Given the description of an element on the screen output the (x, y) to click on. 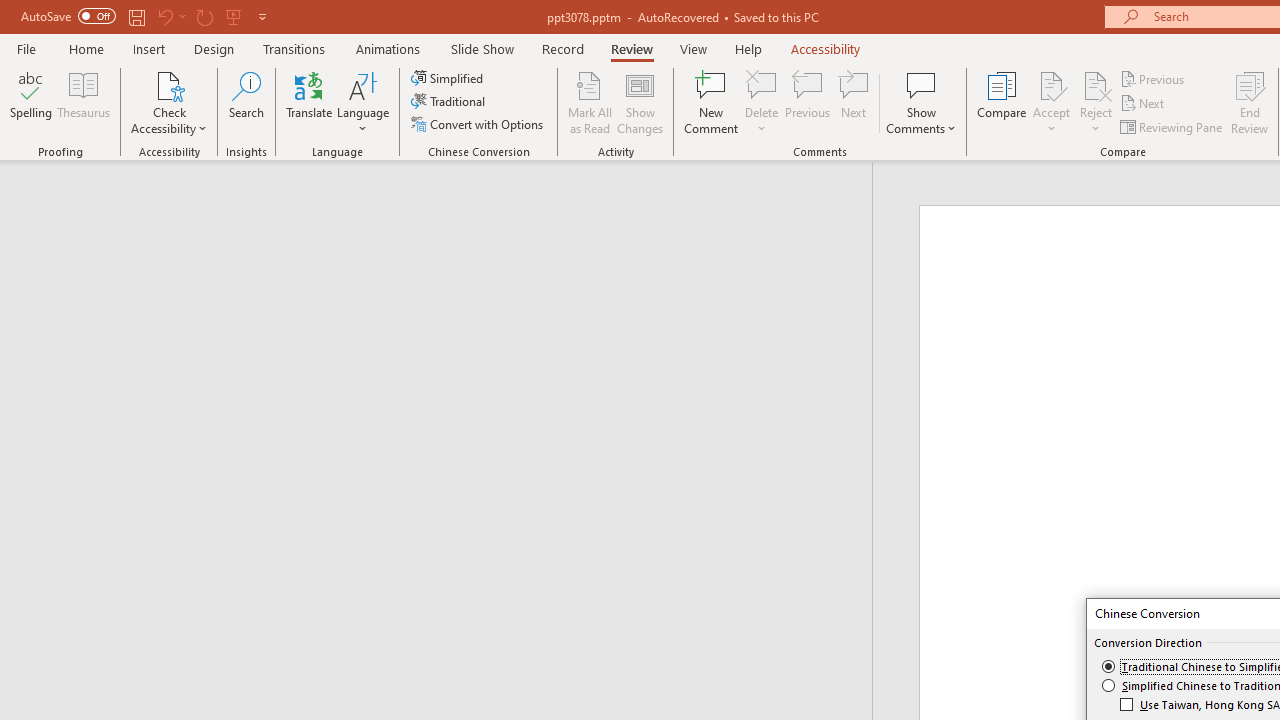
Reject (1096, 102)
